Given the description of an element on the screen output the (x, y) to click on. 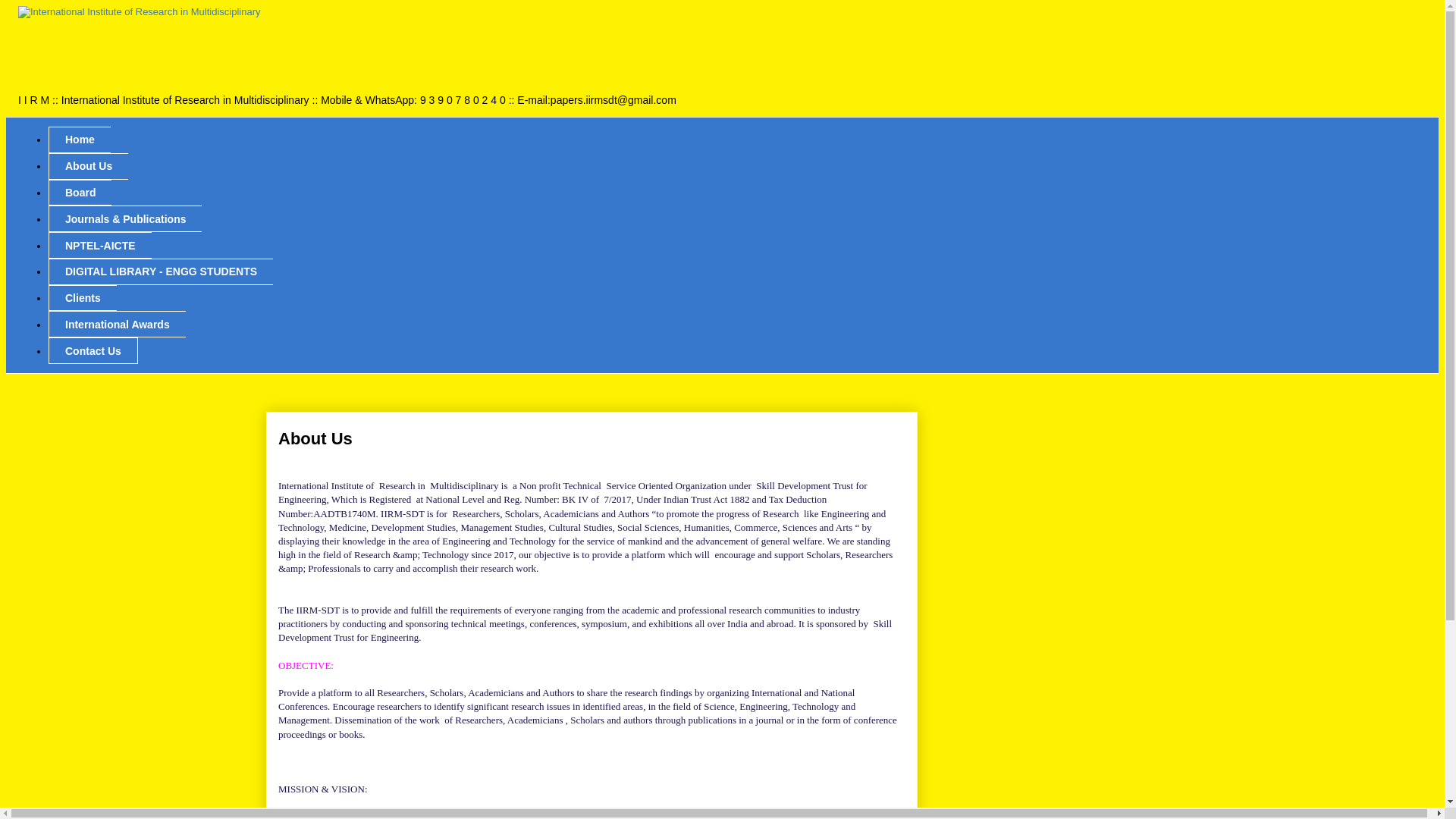
Board (80, 192)
Clients (82, 298)
International Awards (117, 324)
DIGITAL LIBRARY - ENGG STUDENTS (160, 271)
Contact Us (93, 350)
About Us (88, 166)
Home (79, 139)
NPTEL-AICTE (99, 244)
